Given the description of an element on the screen output the (x, y) to click on. 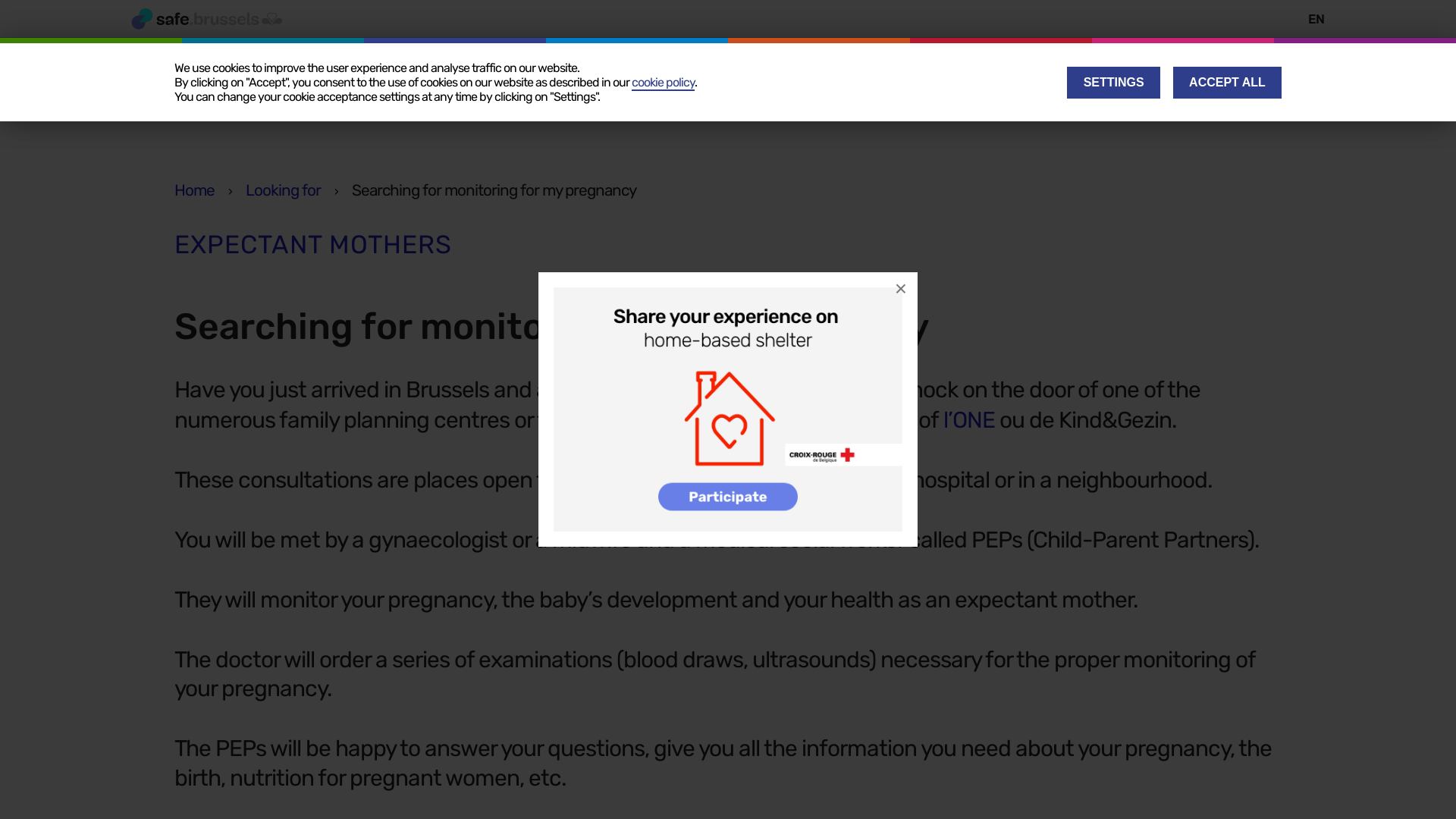
Looking for Element type: text (282, 190)
News Element type: text (536, 102)
Agenda Element type: text (611, 102)
Hosting Element type: text (360, 102)
SETTINGS Element type: text (1112, 82)
ACCEPT ALL Element type: text (1227, 82)
Looking for Element type: text (451, 102)
cookie policy Element type: text (662, 83)
Your route Element type: text (270, 102)
Home Element type: text (194, 190)
